Given the description of an element on the screen output the (x, y) to click on. 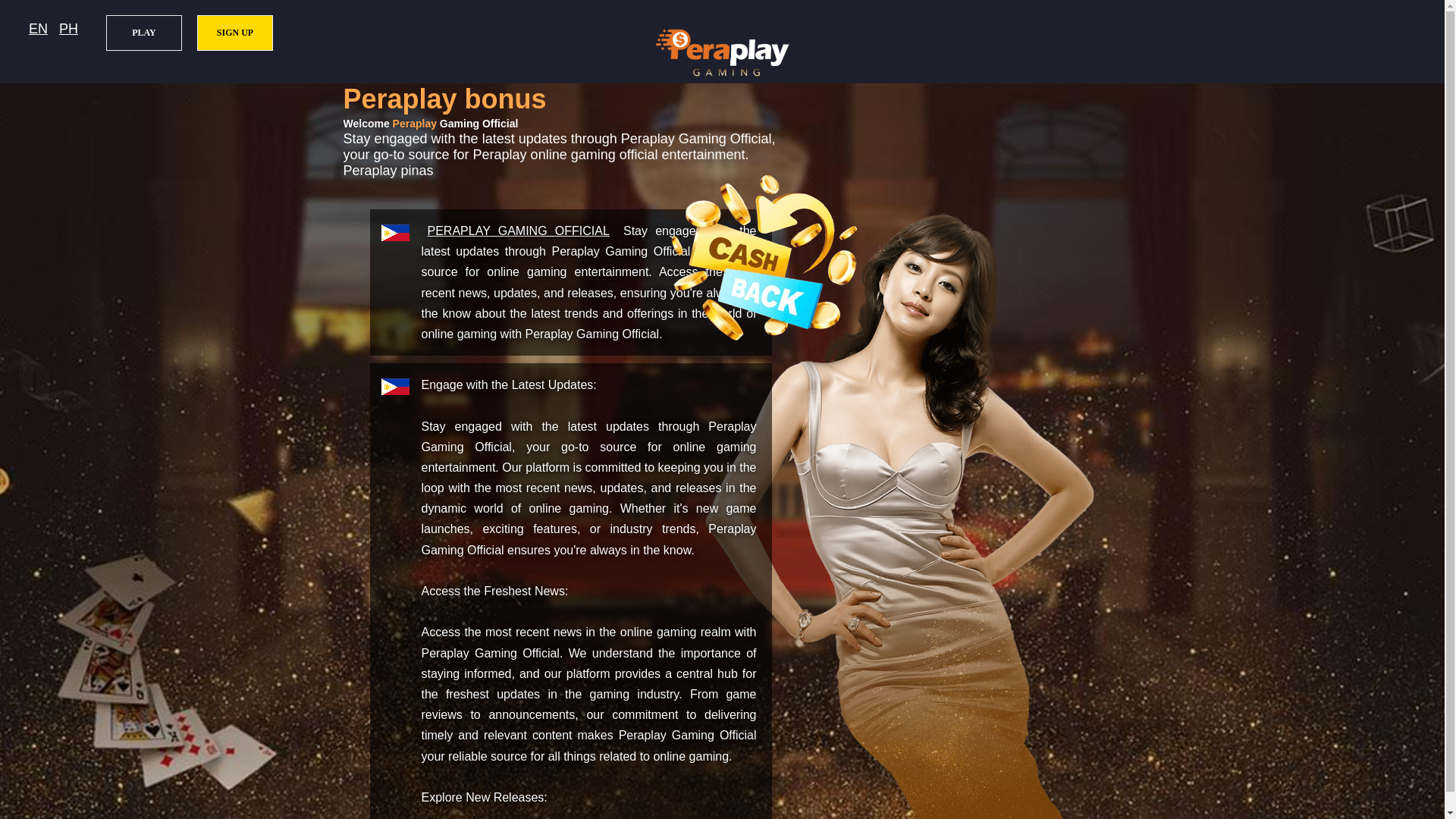
English (38, 28)
PLAY (144, 32)
SIGN UP (234, 32)
Peraplay Gaming Official (519, 230)
PH (68, 28)
EN (38, 28)
PERAPLAY GAMING OFFICIAL (519, 230)
Filipino (68, 28)
Peraplay Gaming Official Logo (721, 52)
